Given the description of an element on the screen output the (x, y) to click on. 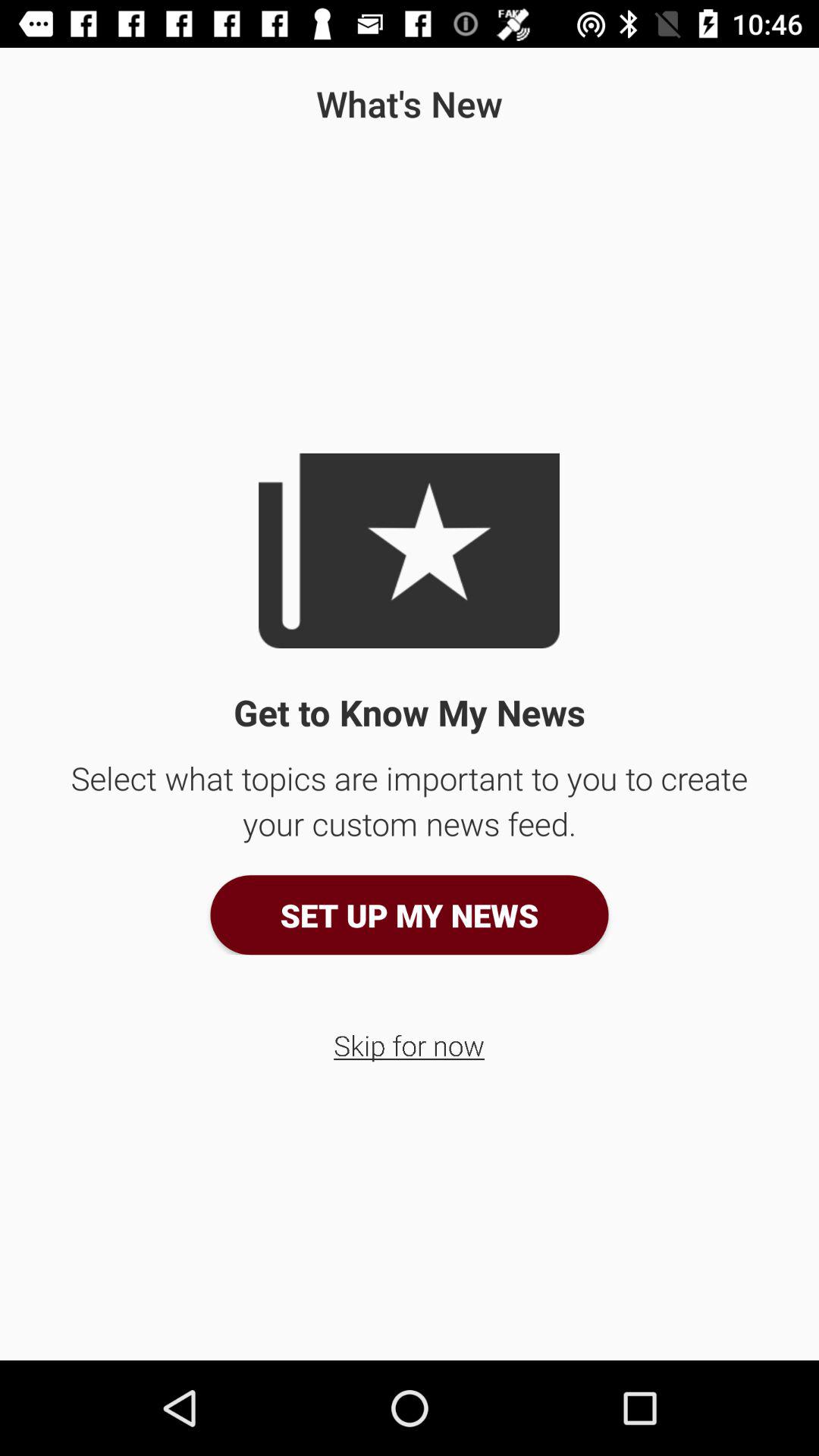
turn on set up my (409, 914)
